Given the description of an element on the screen output the (x, y) to click on. 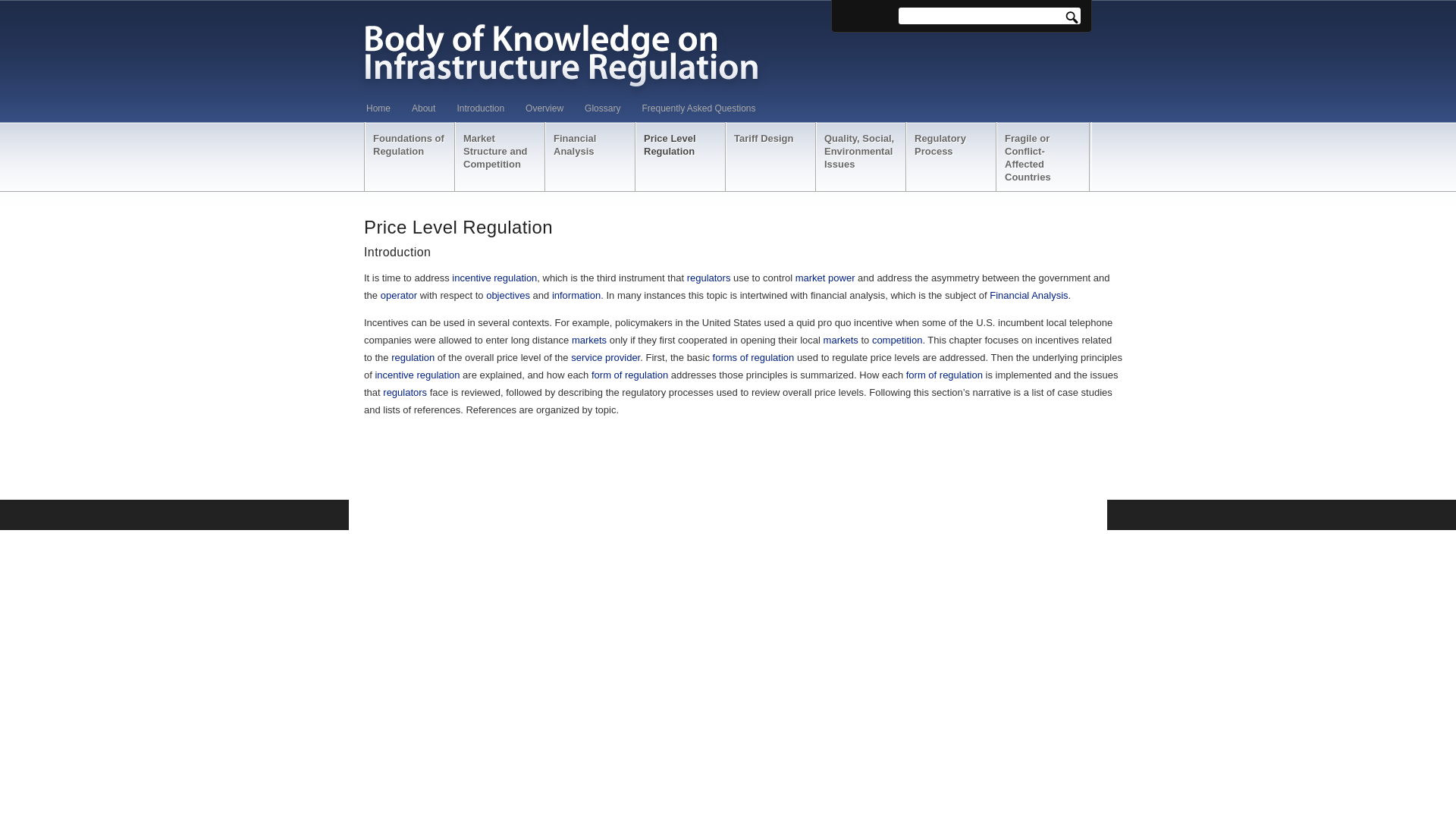
Overview (552, 108)
Financial Analysis (590, 156)
Foundations of Regulation (409, 156)
Market Structure and Competition (499, 156)
About (431, 108)
Permanent Link: Price Level Regulation (458, 227)
Home (386, 108)
Price Level Regulation (680, 156)
. (1075, 17)
Introduction (488, 108)
